Given the description of an element on the screen output the (x, y) to click on. 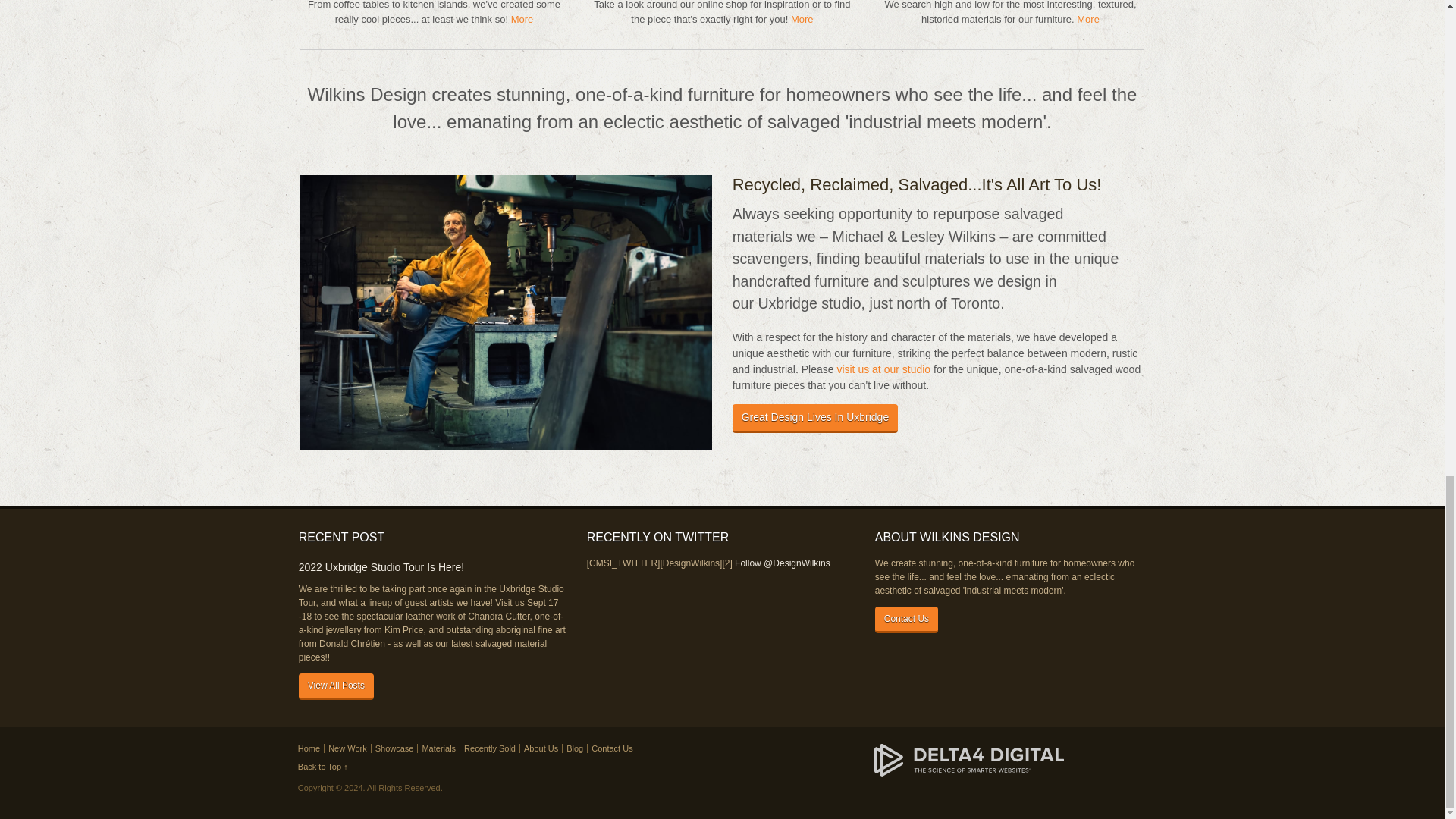
Home (309, 747)
Wilkins Design Furniture Shop Online (801, 19)
More (522, 19)
Materials (438, 747)
visit us at our studio (882, 369)
Take a look at our favourite pieces (522, 19)
2022 Uxbridge Studio Tour Is Here! (433, 567)
New Work (347, 747)
More (1088, 19)
About Us (540, 747)
More (801, 19)
Contact Us (906, 619)
Recently Sold (489, 747)
Showcase (394, 747)
